Given the description of an element on the screen output the (x, y) to click on. 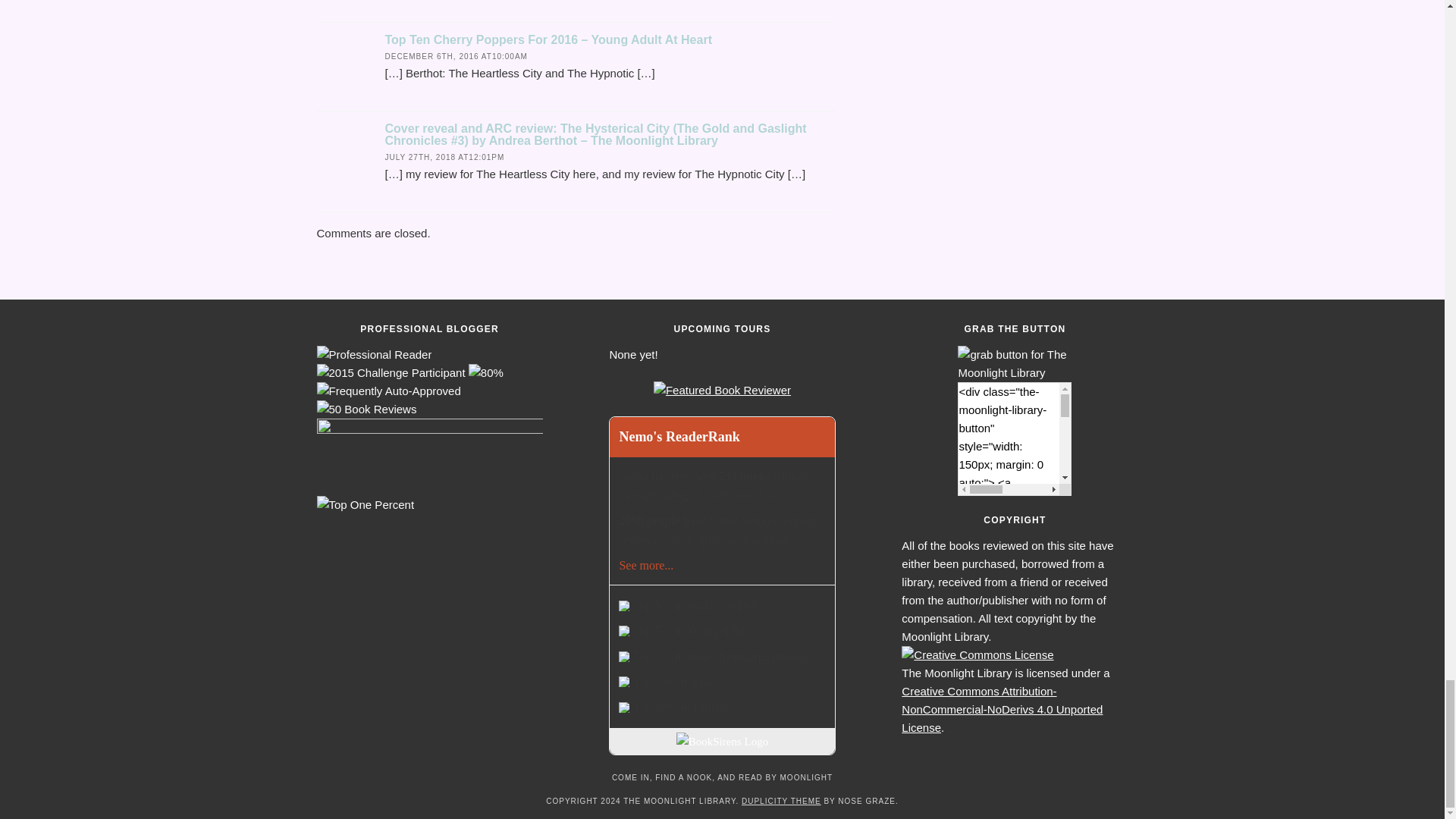
Professional Reader (374, 354)
50 Book Reviews (366, 409)
2015 Challenge Participant (391, 372)
Frequently Auto-Approved (389, 391)
